Given the description of an element on the screen output the (x, y) to click on. 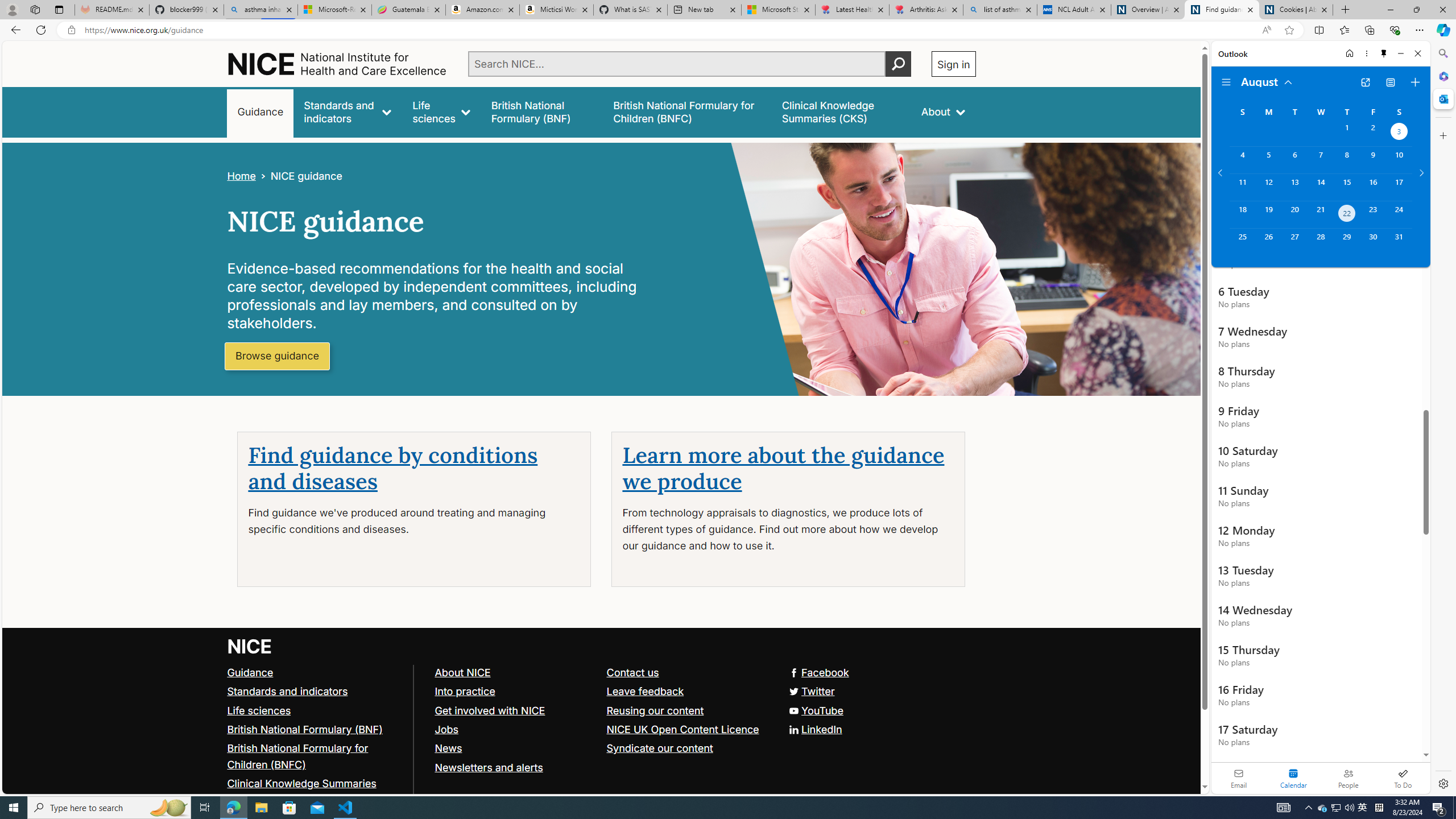
Go to NICE home page (250, 645)
Tuesday, August 27, 2024.  (1294, 241)
To Do (1402, 777)
Syndicate our content (659, 748)
Browse guidance (277, 356)
Saturday, August 24, 2024.  (1399, 214)
